Given the description of an element on the screen output the (x, y) to click on. 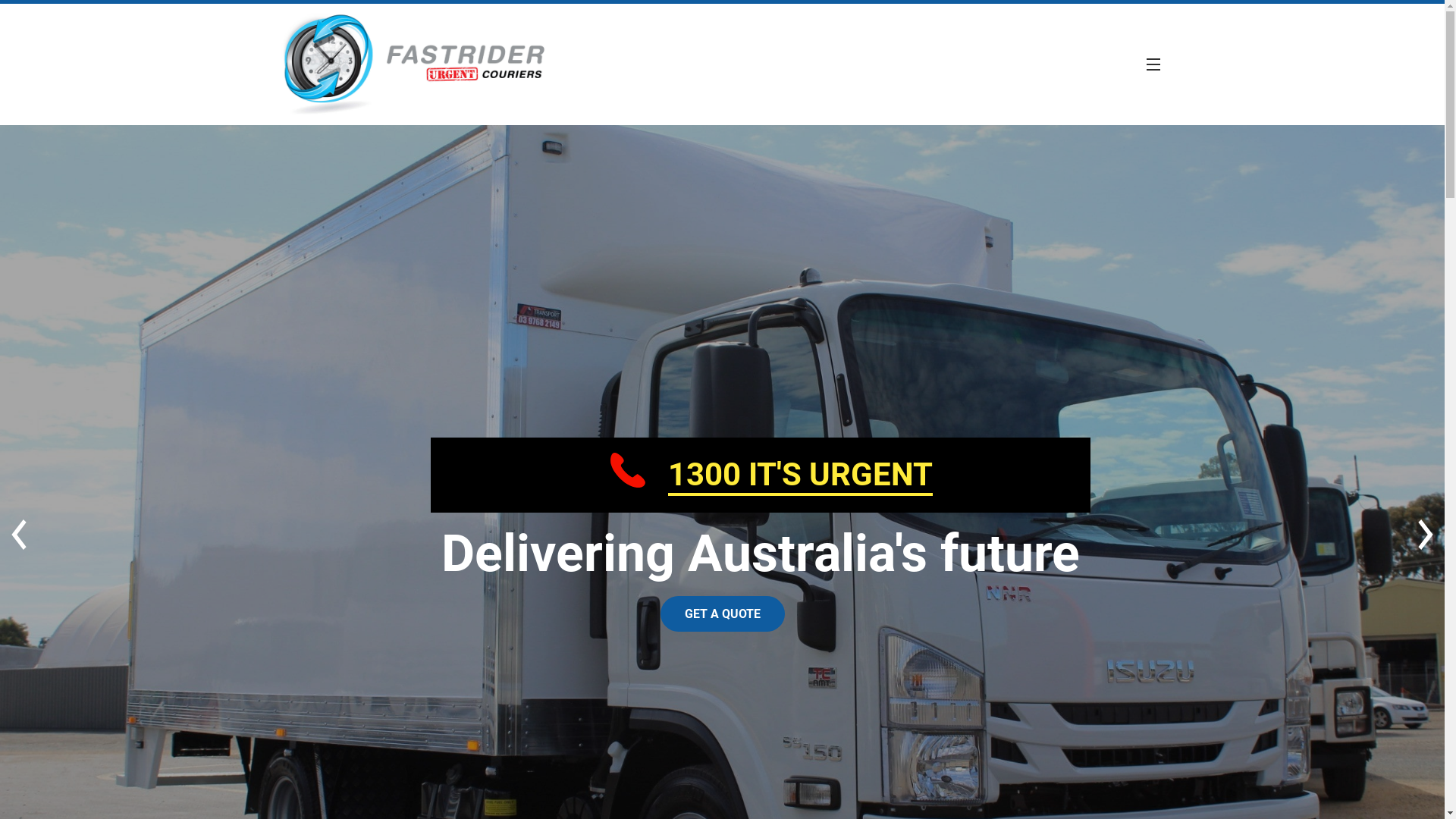
GET A QUOTE Element type: text (721, 613)
1300 IT'S URGENT Element type: text (800, 475)
